Given the description of an element on the screen output the (x, y) to click on. 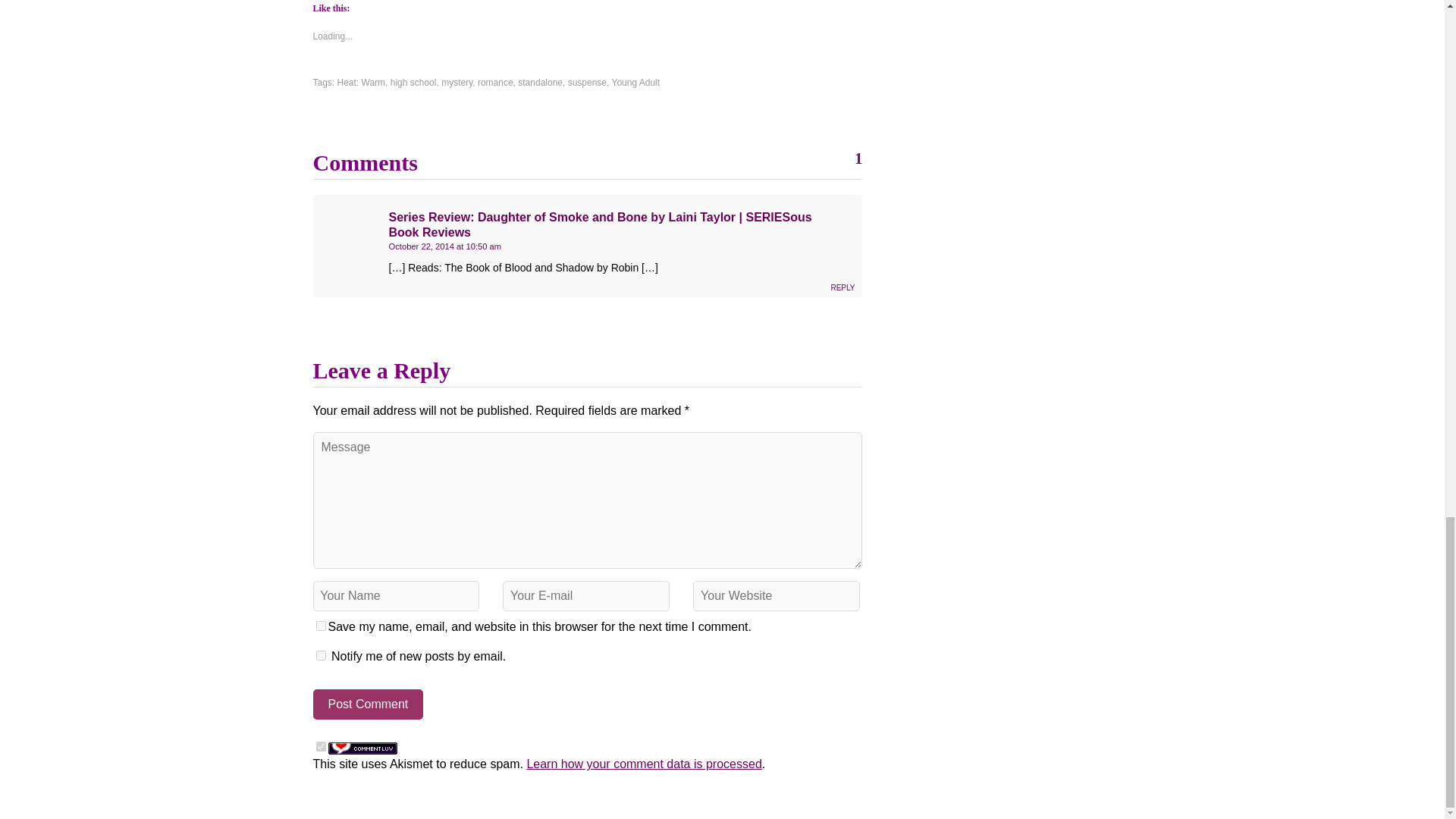
on (319, 746)
mystery (456, 81)
high school (413, 81)
REPLY (841, 287)
Post Comment (368, 704)
Young Adult (635, 81)
standalone (540, 81)
Heat: Warm (361, 81)
October 22, 2014 at 10:50 am (444, 245)
Learn how your comment data is processed (643, 763)
